Given the description of an element on the screen output the (x, y) to click on. 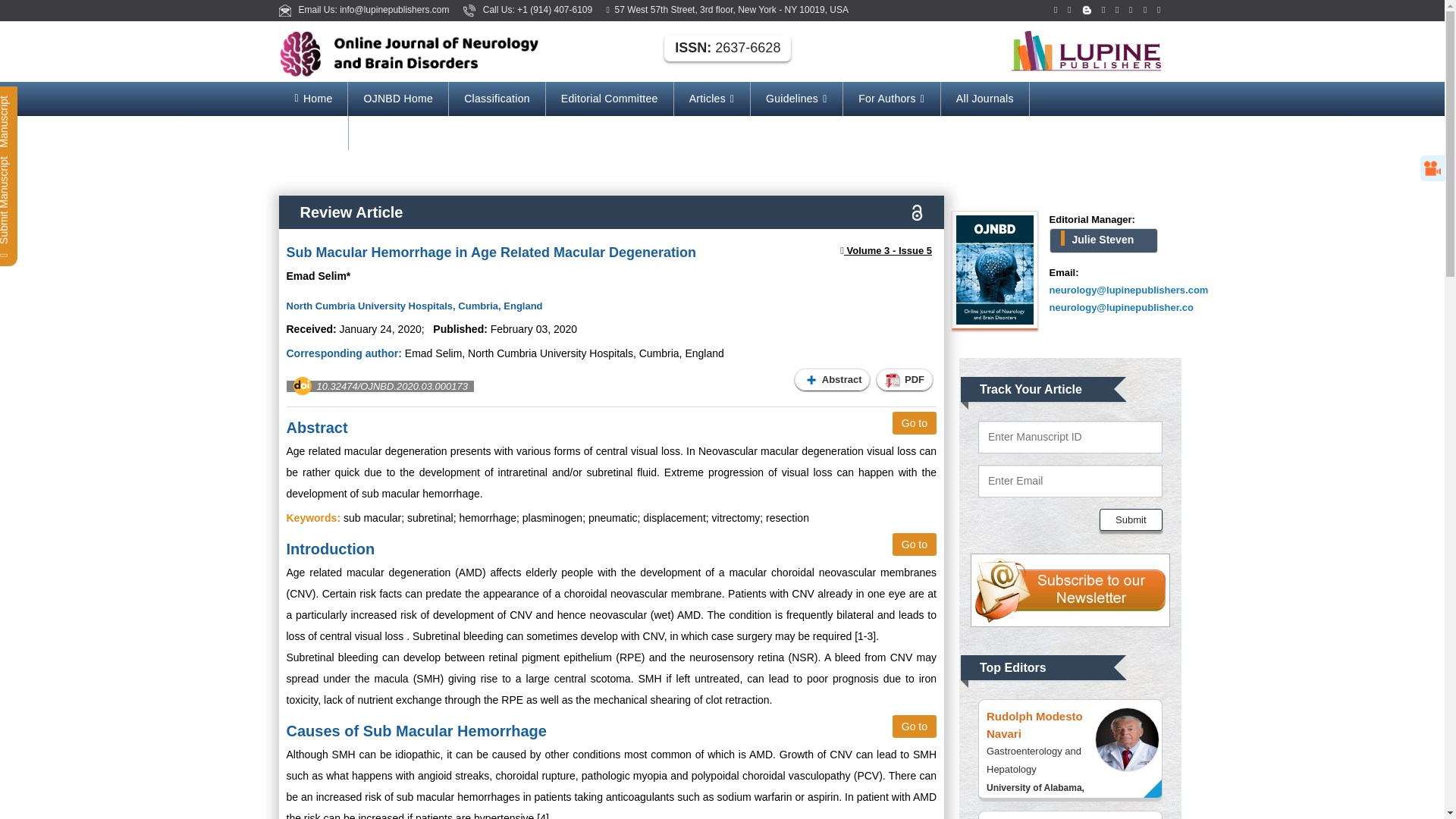
Classification (496, 98)
All Journals (984, 98)
Articles (711, 98)
Home (313, 98)
For Authors (891, 98)
  Submit Manuscript (55, 99)
Contact (313, 132)
Guidelines (797, 98)
Editorial Committee (609, 98)
OJNBD Home (397, 98)
